Given the description of an element on the screen output the (x, y) to click on. 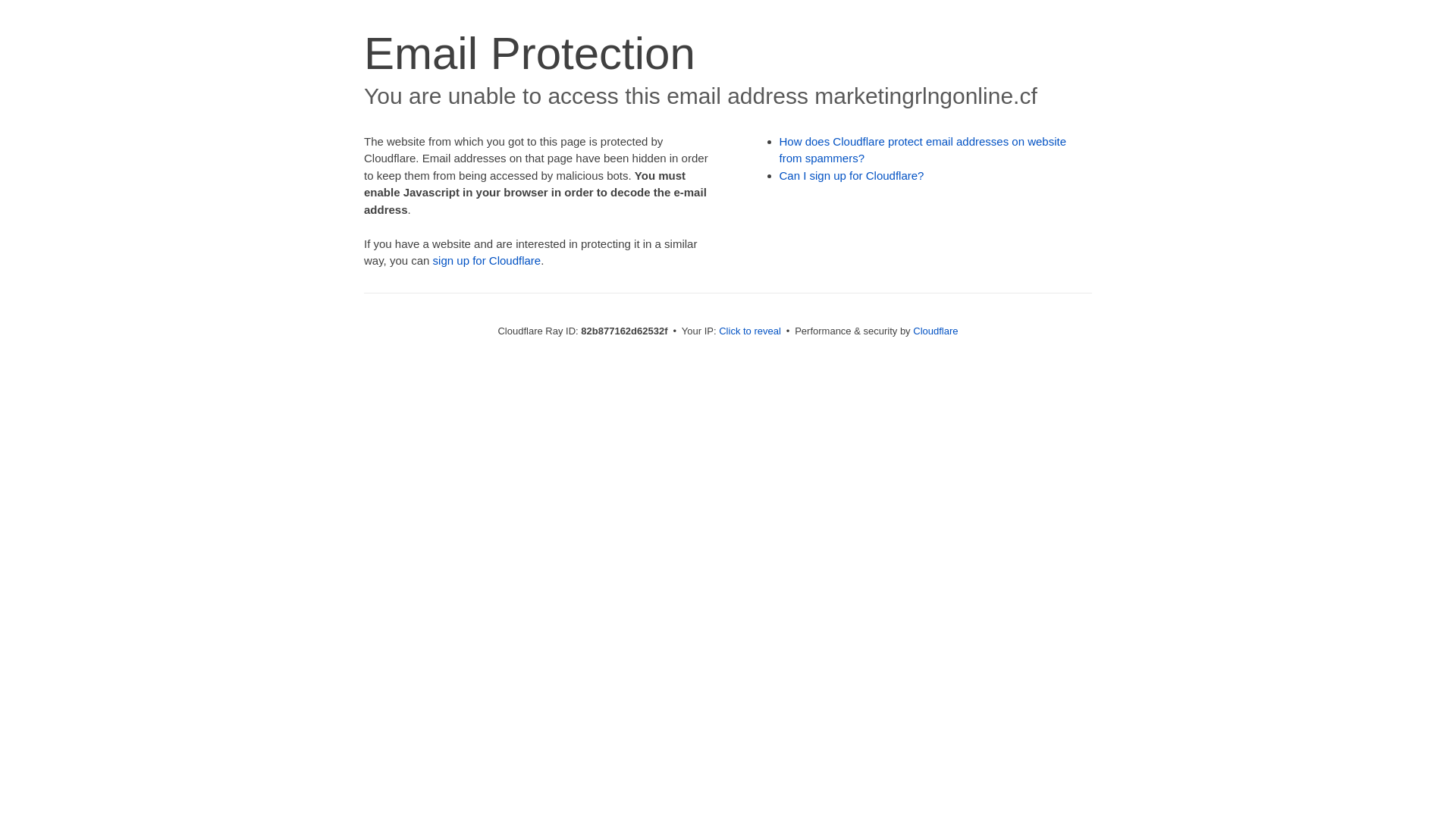
Cloudflare Element type: text (935, 330)
Can I sign up for Cloudflare? Element type: text (851, 175)
sign up for Cloudflare Element type: text (487, 260)
Click to reveal Element type: text (749, 330)
